Given the description of an element on the screen output the (x, y) to click on. 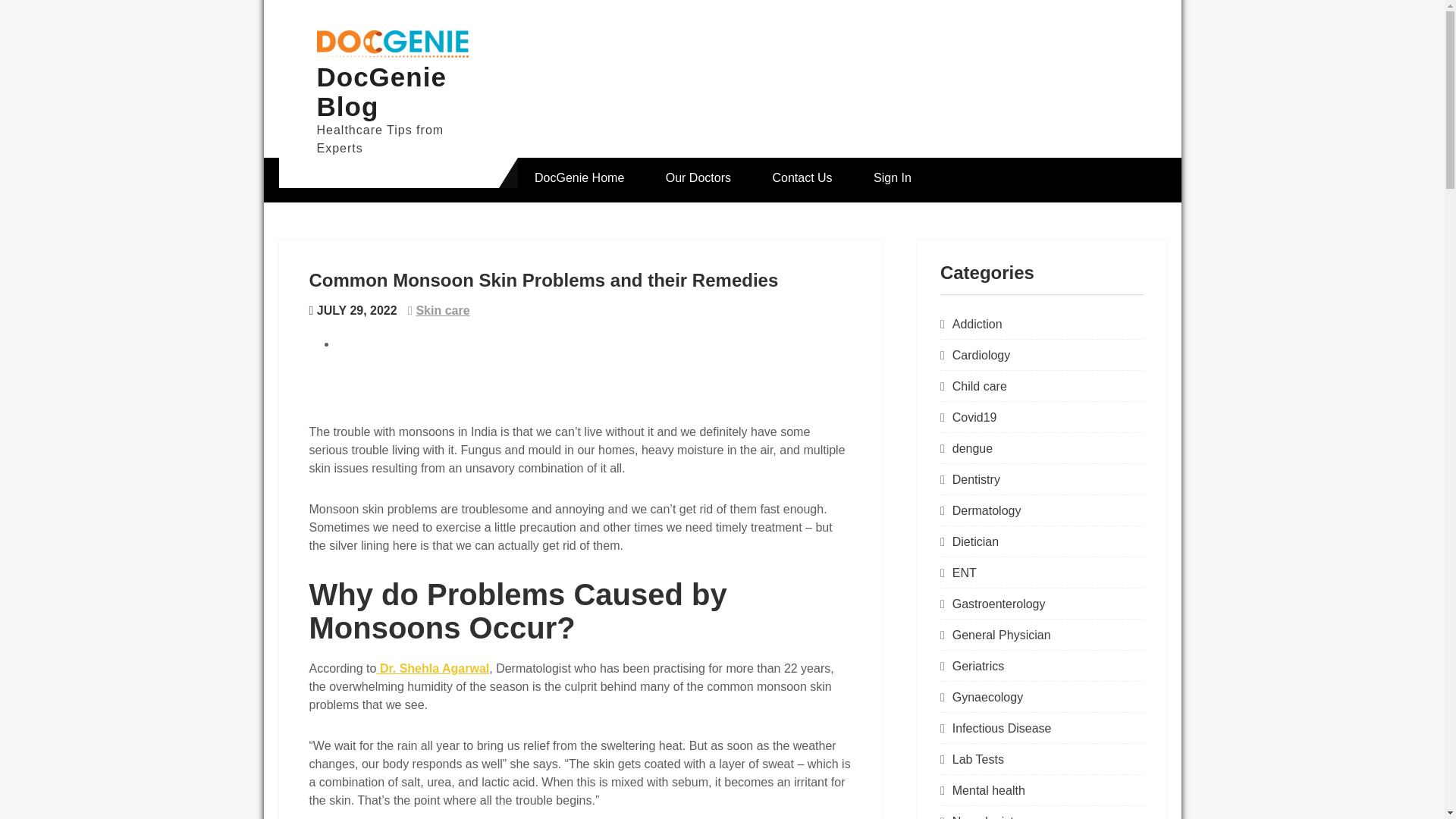
Gastroenterology (998, 603)
Lab Tests (978, 758)
Gynaecology (987, 697)
dengue (972, 448)
Dietician (975, 541)
Covid19 (974, 417)
Cardiology (981, 354)
Skin care (441, 309)
Neurologist (982, 816)
Dr. Shehla Agarwal (432, 667)
